Given the description of an element on the screen output the (x, y) to click on. 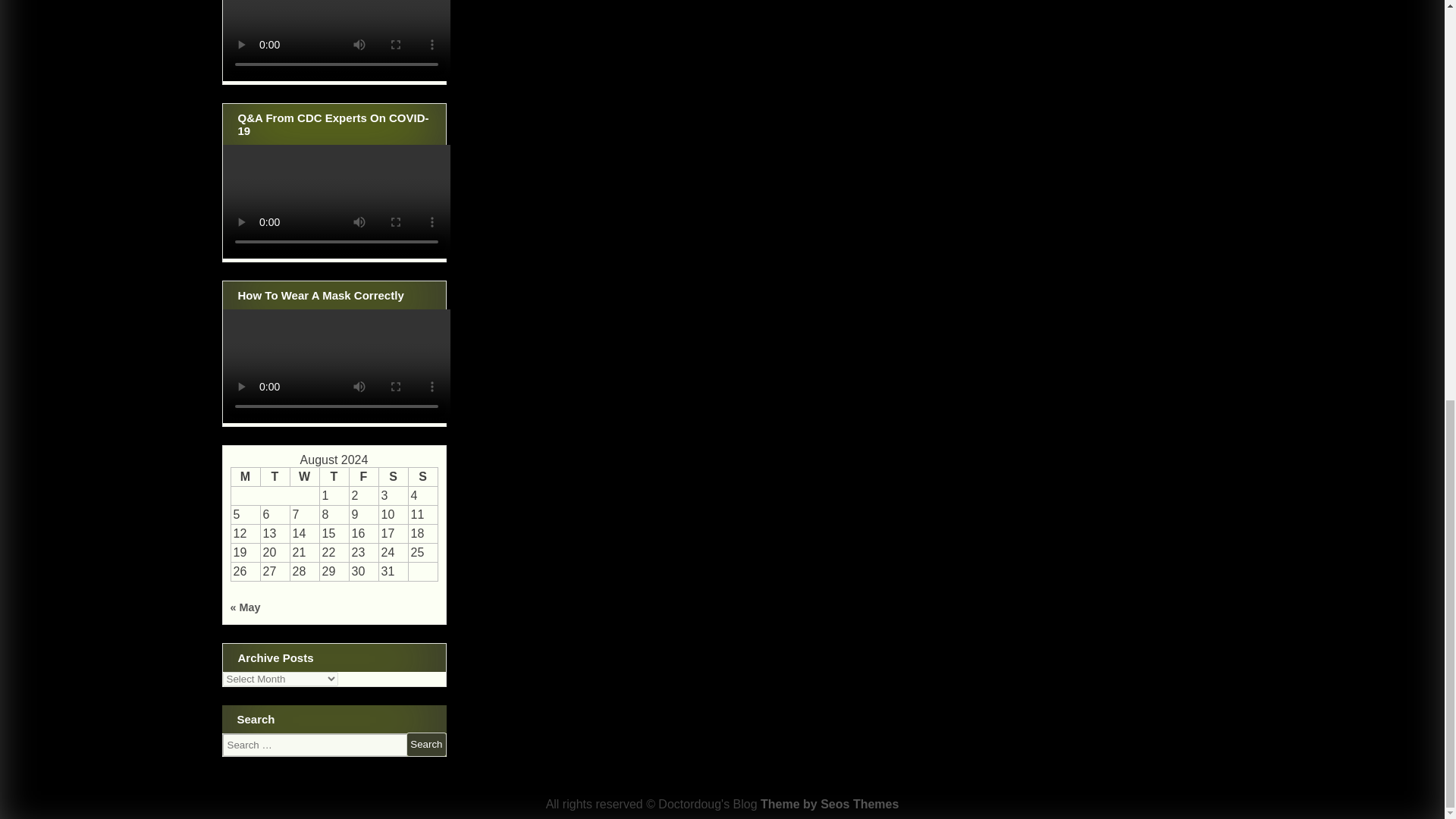
Fullscreen (426, 410)
Monday (245, 476)
Mute (401, 52)
Search (425, 744)
Tuesday (274, 476)
Thursday (333, 476)
Wednesday (303, 476)
Mute (401, 410)
Play (242, 410)
Mute (401, 237)
